Given the description of an element on the screen output the (x, y) to click on. 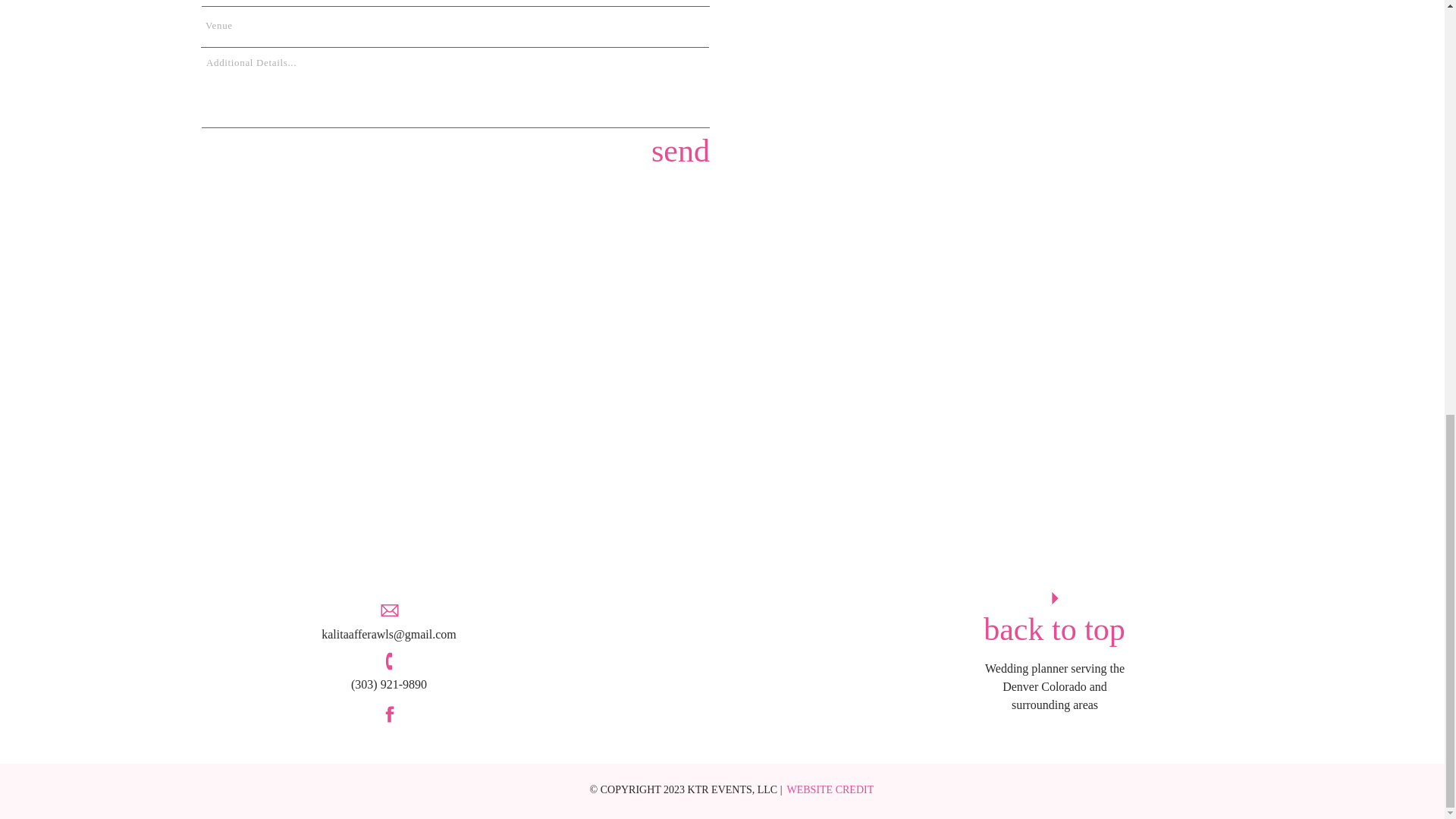
WEBSITE CREDIT (831, 789)
send (677, 149)
back to top (1054, 628)
